Given the description of an element on the screen output the (x, y) to click on. 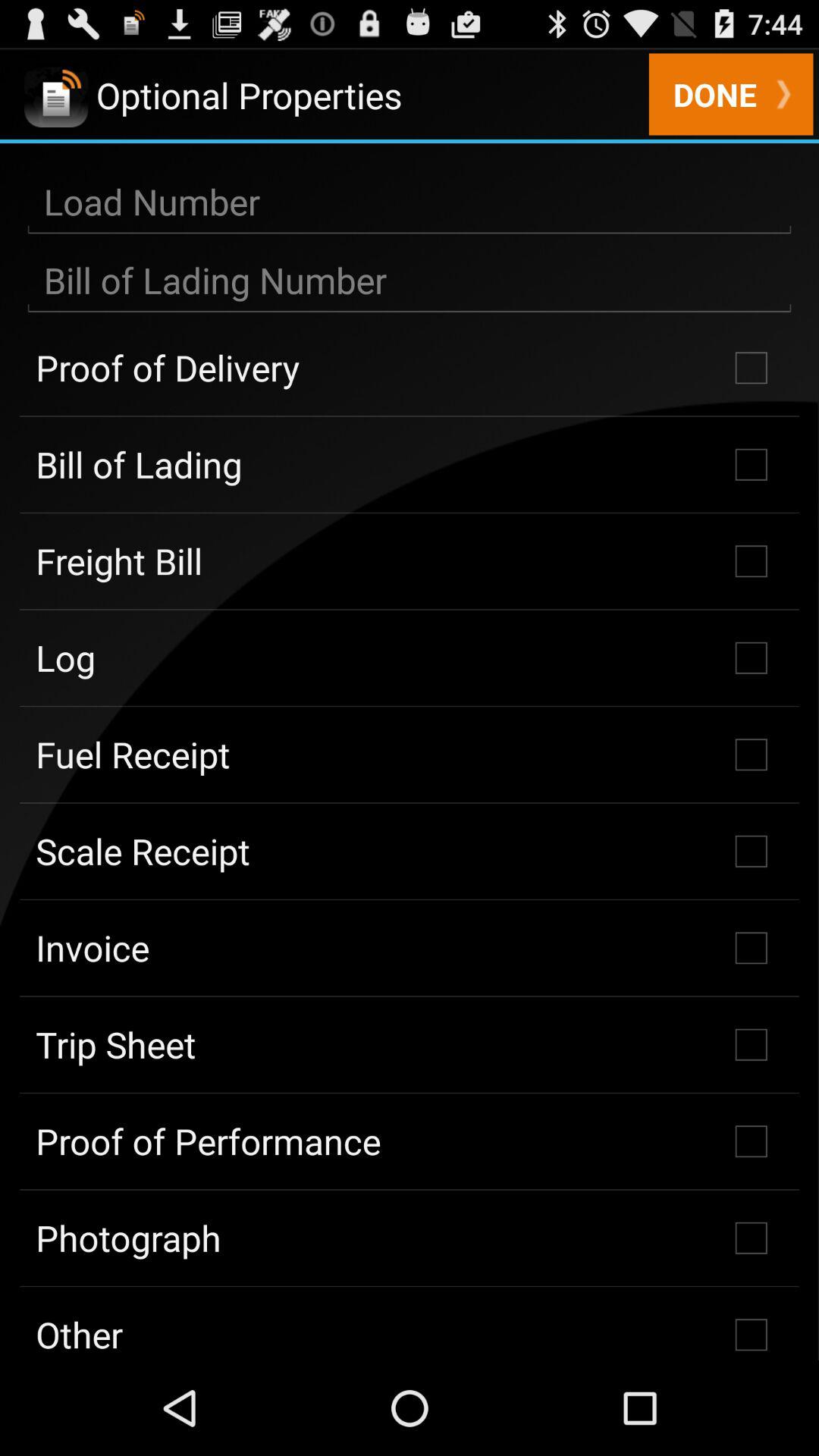
scroll to fuel receipt (409, 754)
